Given the description of an element on the screen output the (x, y) to click on. 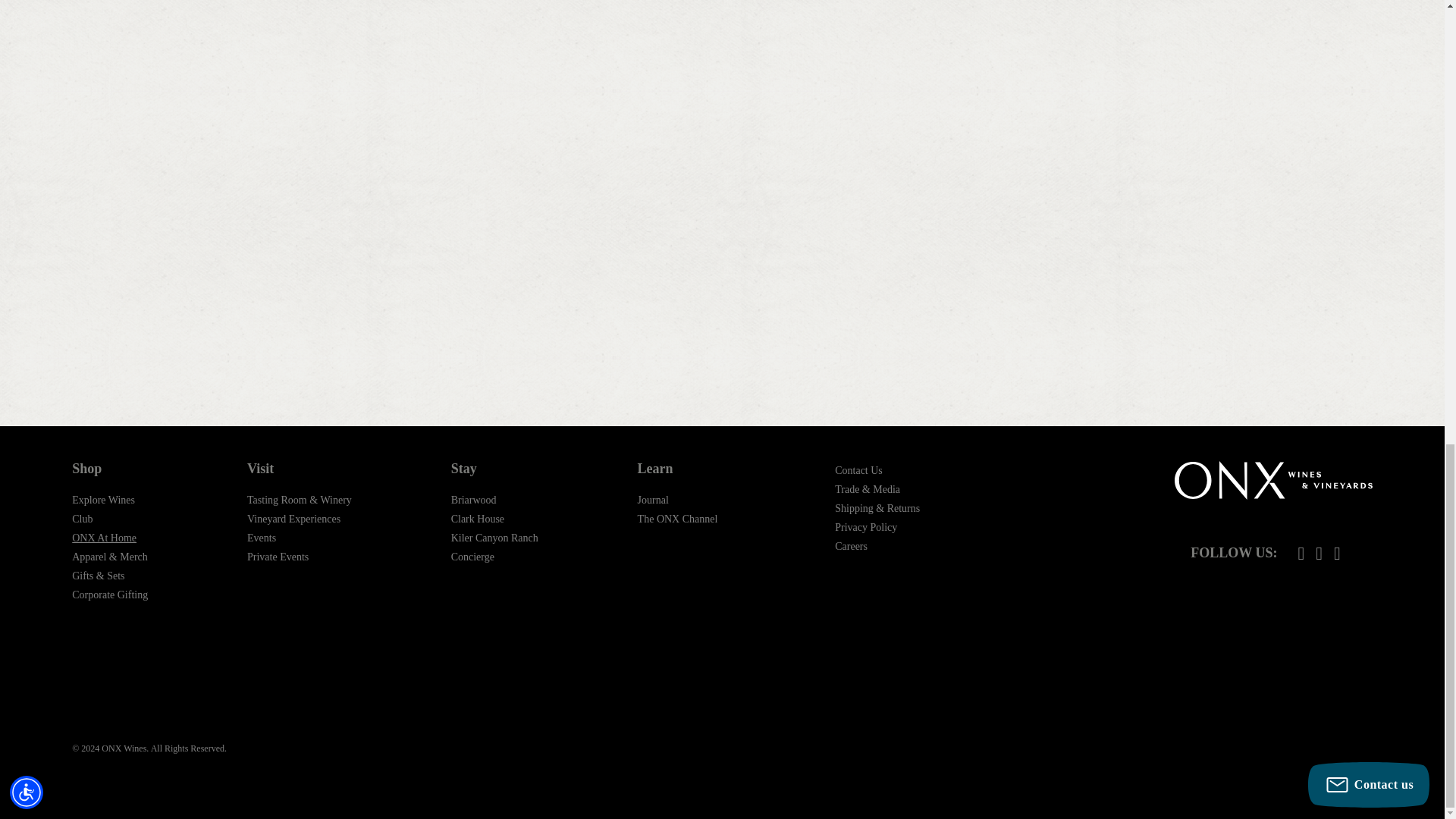
Corporate Gifting (109, 594)
ONX At Home (103, 537)
Explore Wines (103, 500)
Club (82, 518)
Visit (299, 468)
Shop (109, 468)
